Given the description of an element on the screen output the (x, y) to click on. 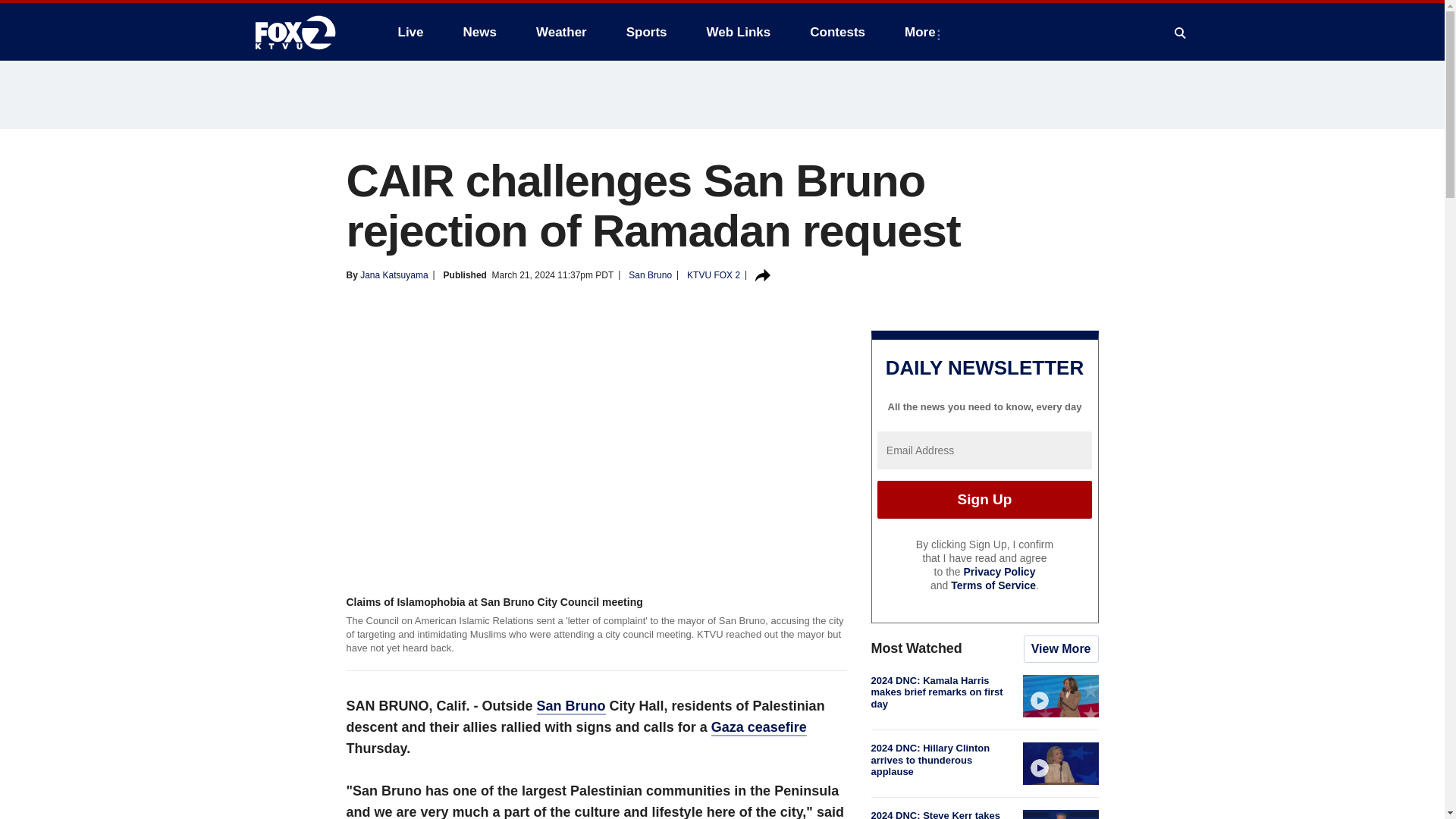
Sign Up (984, 499)
More (922, 32)
Web Links (738, 32)
Weather (561, 32)
Contests (837, 32)
Live (410, 32)
News (479, 32)
Sports (646, 32)
